Given the description of an element on the screen output the (x, y) to click on. 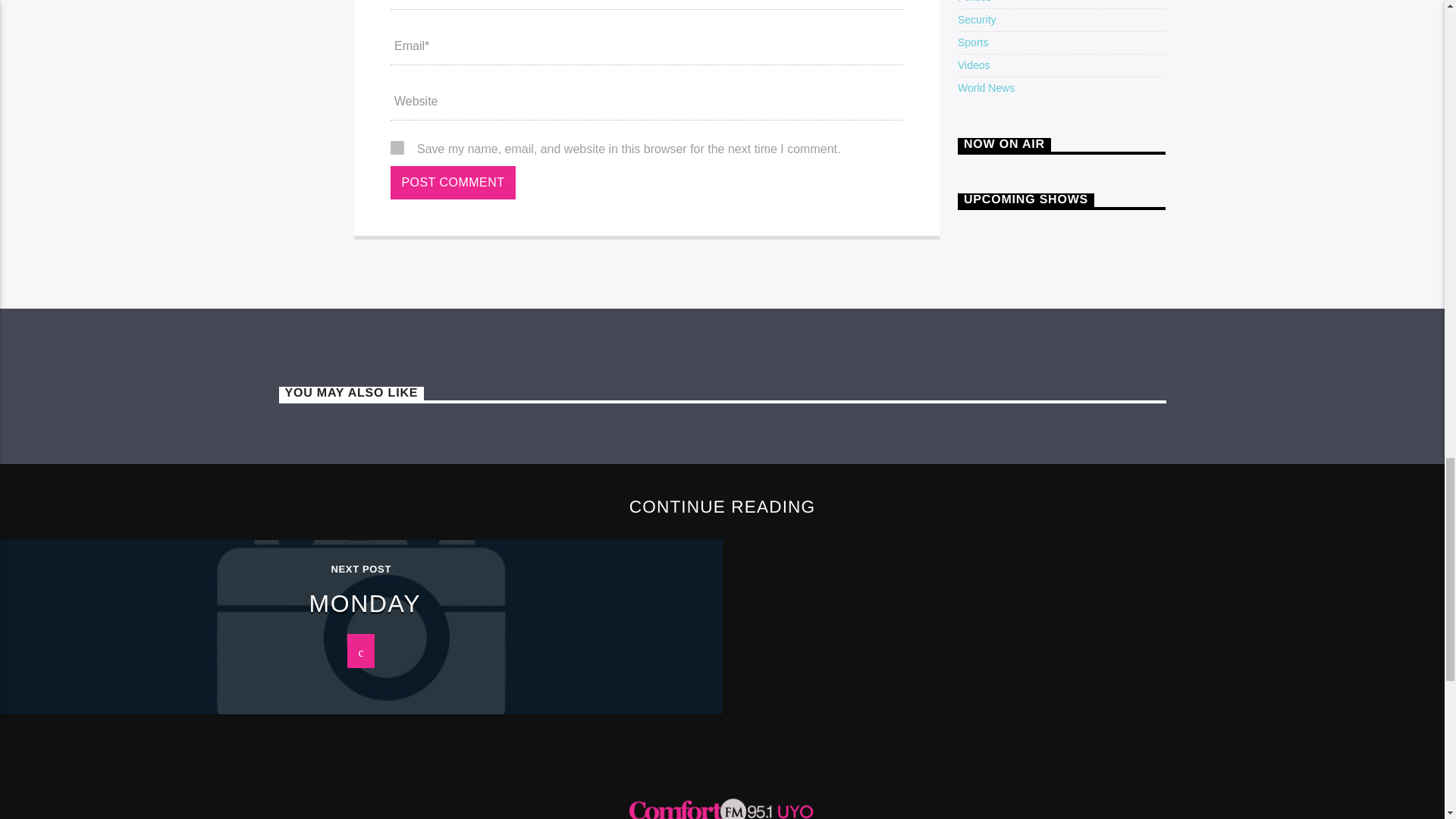
Post Comment (452, 182)
